Given the description of an element on the screen output the (x, y) to click on. 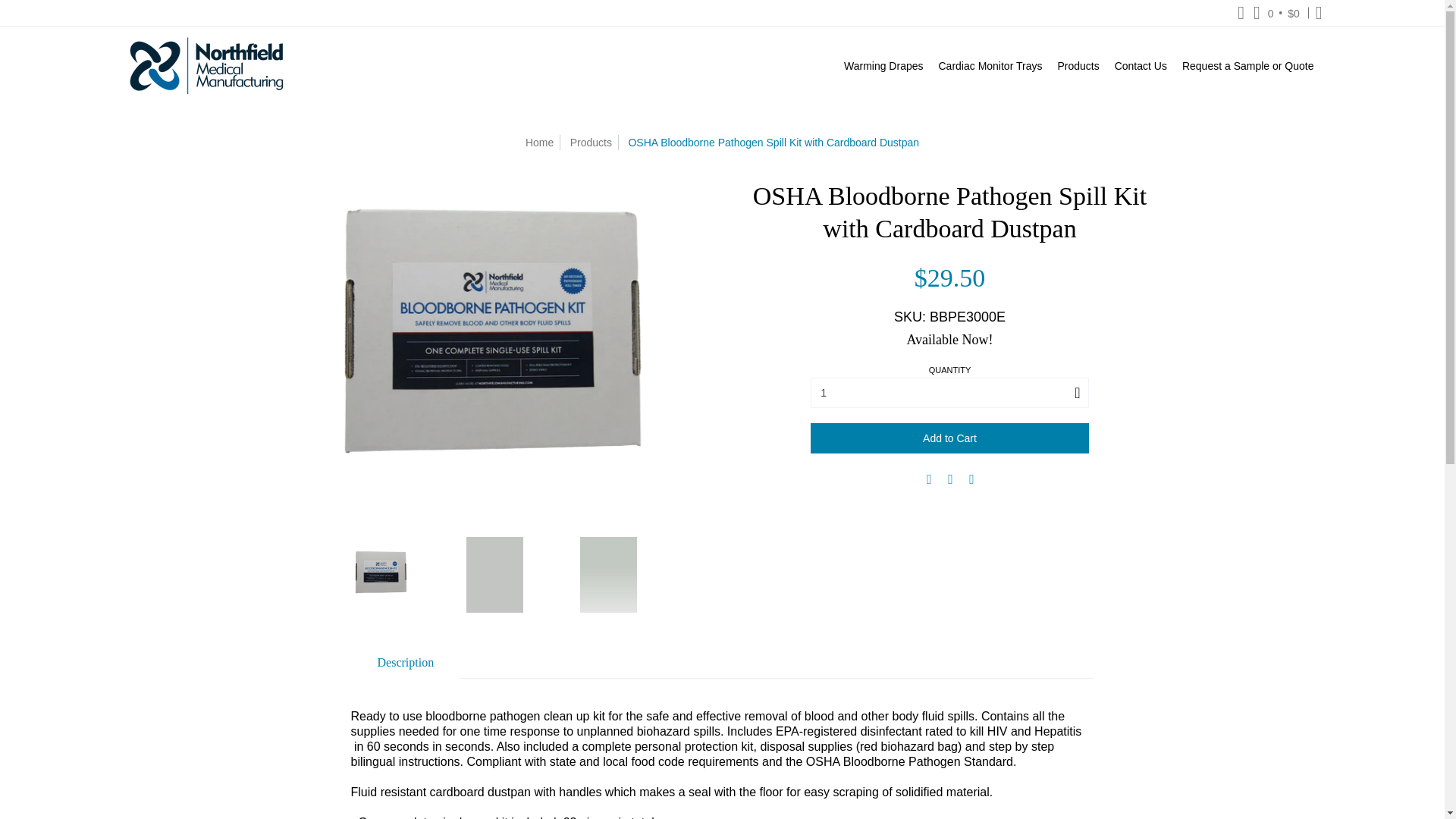
Products (1077, 65)
Products (590, 142)
Contact Us (1140, 65)
OSHA Bloodborne Pathogen Spill Kit with Cardboard Dustpan (608, 574)
Cardiac Monitor Trays (990, 65)
Add to Cart (949, 438)
Products (590, 142)
OSHA Bloodborne Pathogen Spill Kit with Cardboard Dustpan (380, 574)
Warming Drapes (883, 65)
Log in (1318, 12)
Products (1077, 65)
Description (405, 662)
Back to the home page (539, 142)
Request a Sample or Quote (1248, 65)
Cardiac Monitor Trays (990, 65)
